Given the description of an element on the screen output the (x, y) to click on. 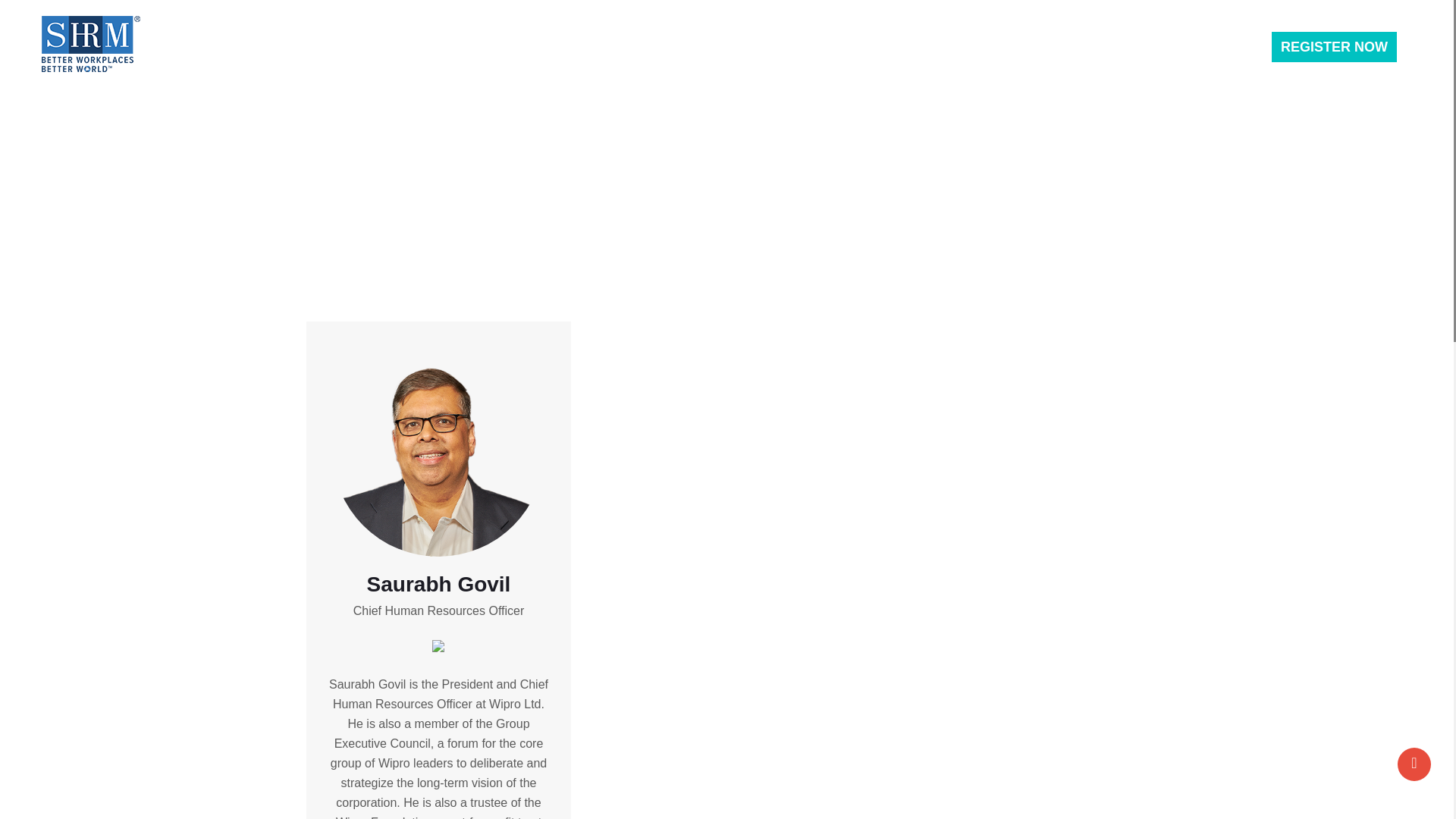
AGENDA (557, 48)
Speaker (703, 150)
Home (643, 150)
REGISTER NOW (1333, 46)
SPEAKERS (478, 48)
PARTNERS (635, 48)
